Given the description of an element on the screen output the (x, y) to click on. 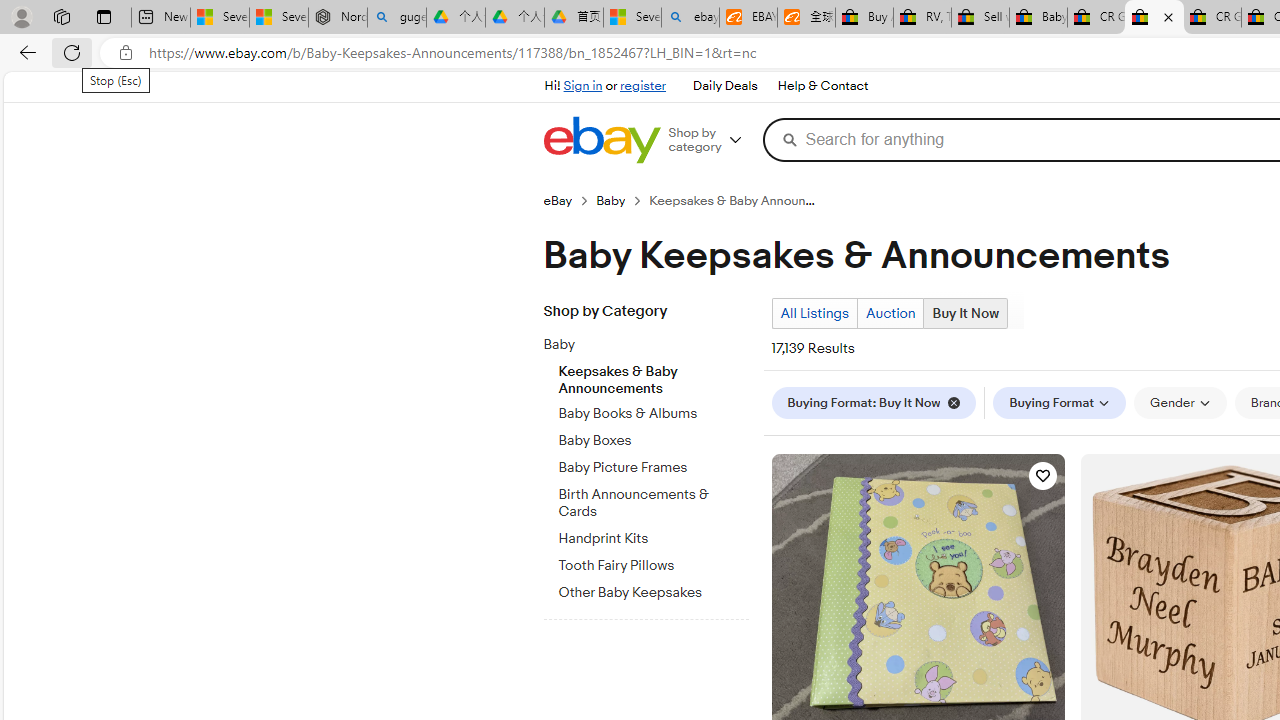
Help & Contact (821, 85)
Buying Format (1059, 403)
Other Baby Keepsakes (653, 593)
Keepsakes & Baby Announcements (653, 375)
eBay Home (601, 139)
View site information (125, 53)
Buying Format: Buy It Now- Remove Filter (877, 402)
Birth Announcements & Cards (653, 504)
RV, Trailer & Camper Steps & Ladders for sale | eBay (922, 17)
New tab (160, 17)
Help & Contact (822, 86)
Gender (1180, 403)
